Given the description of an element on the screen output the (x, y) to click on. 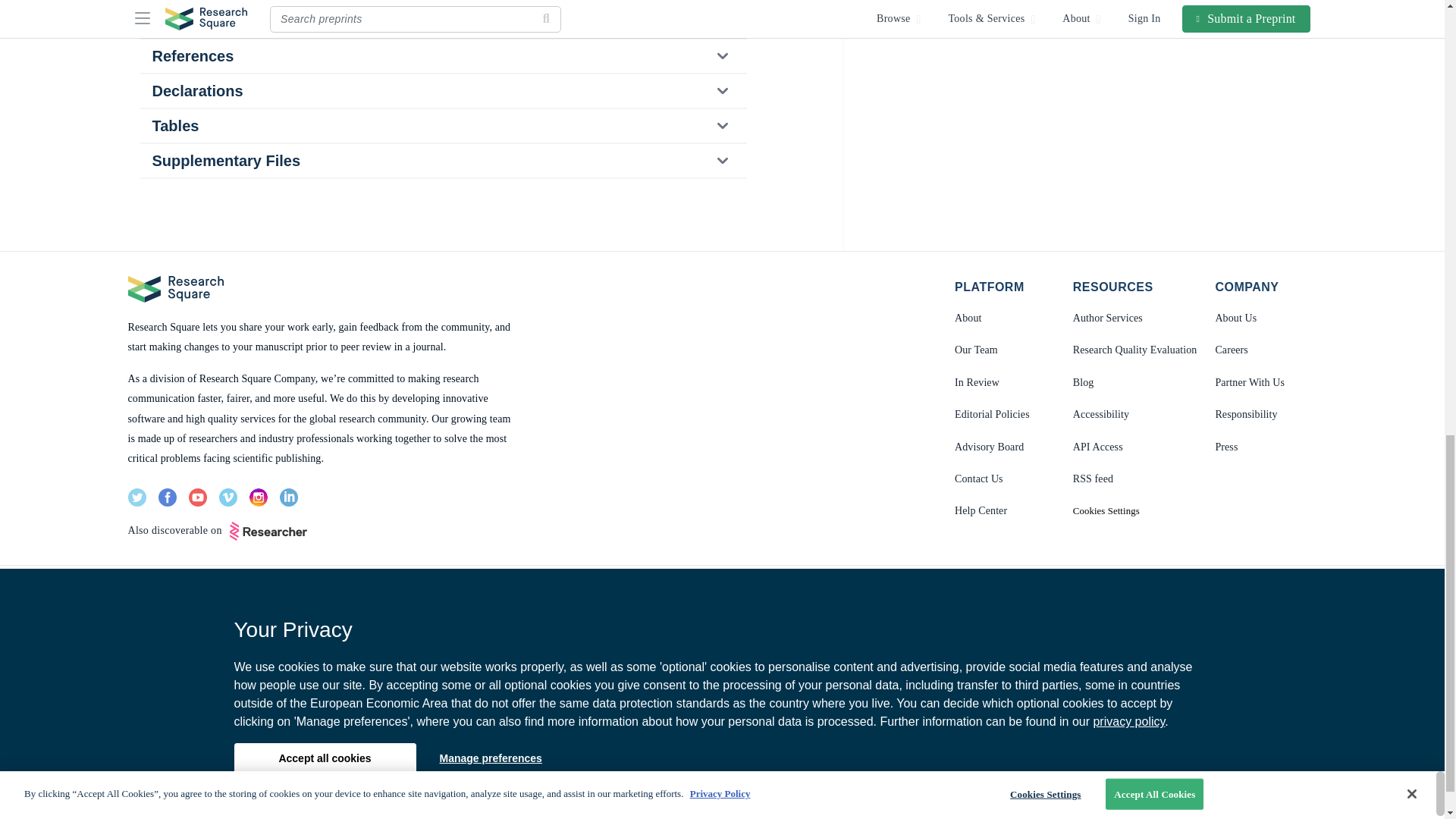
Discussion (442, 20)
